Given the description of an element on the screen output the (x, y) to click on. 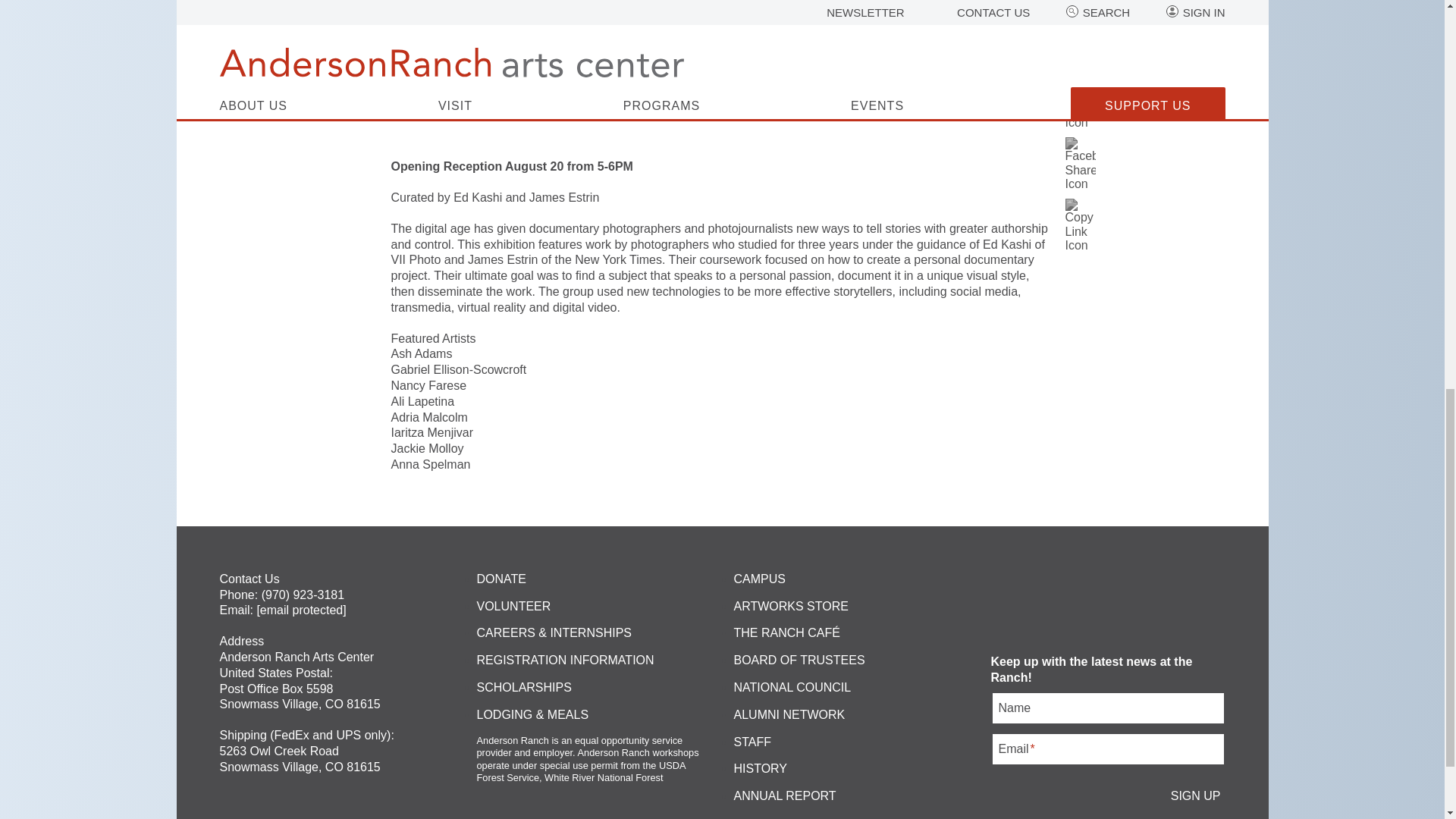
Screen-Shot-2019-06-06-at-3.44.34-PM (722, 72)
